Given the description of an element on the screen output the (x, y) to click on. 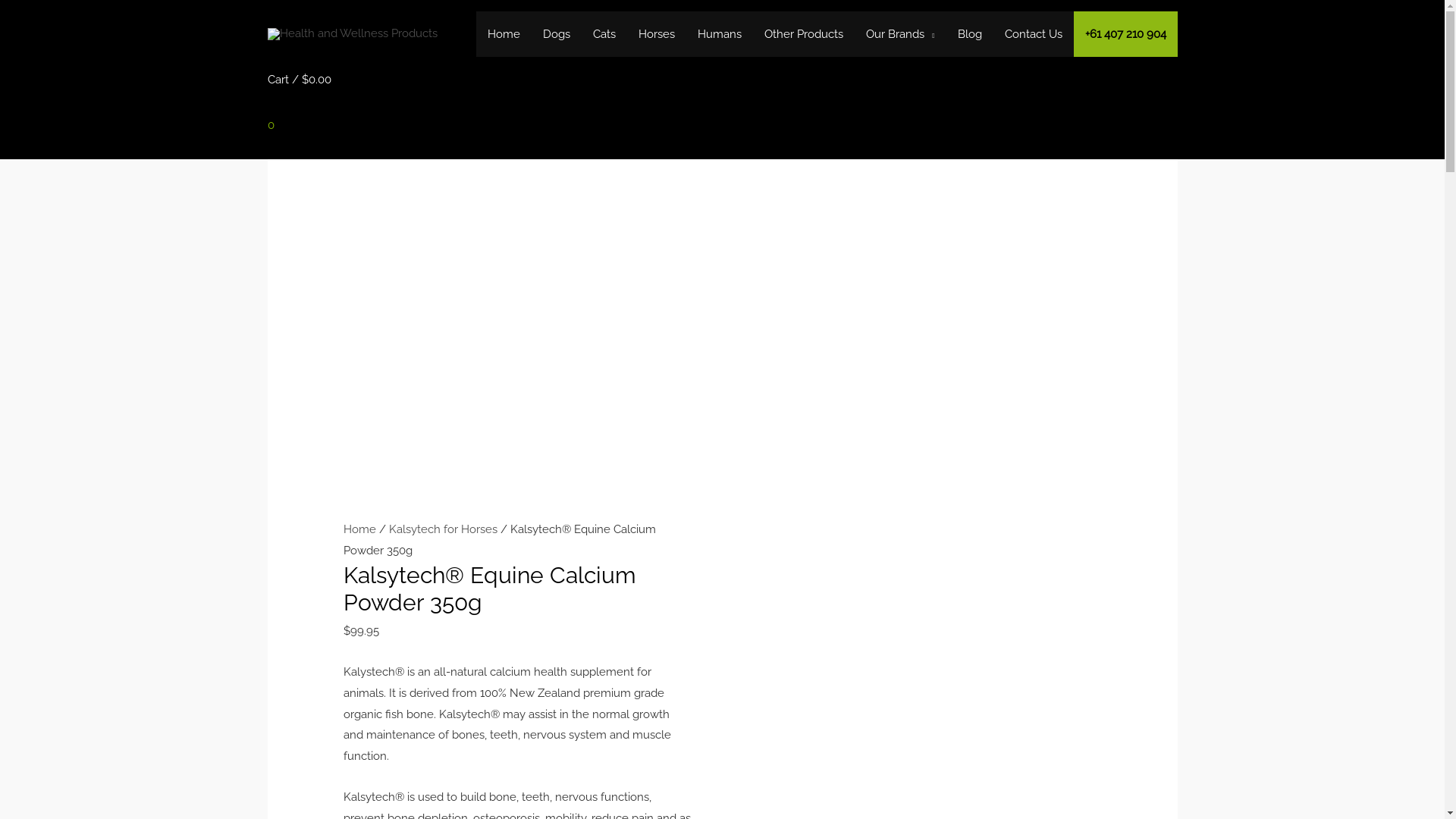
Blog Element type: text (969, 33)
Cart / $0.00
0 Element type: text (298, 109)
Home Element type: text (359, 529)
Home Element type: text (503, 33)
Other Products Element type: text (803, 33)
+61 407 210 904 Element type: text (1125, 33)
Our Brands Element type: text (899, 33)
Cats Element type: text (604, 33)
Dogs Element type: text (556, 33)
Horses Element type: text (656, 33)
Humans Element type: text (719, 33)
Contact Us Element type: text (1033, 33)
Kalsytech for Horses Element type: text (443, 529)
